Given the description of an element on the screen output the (x, y) to click on. 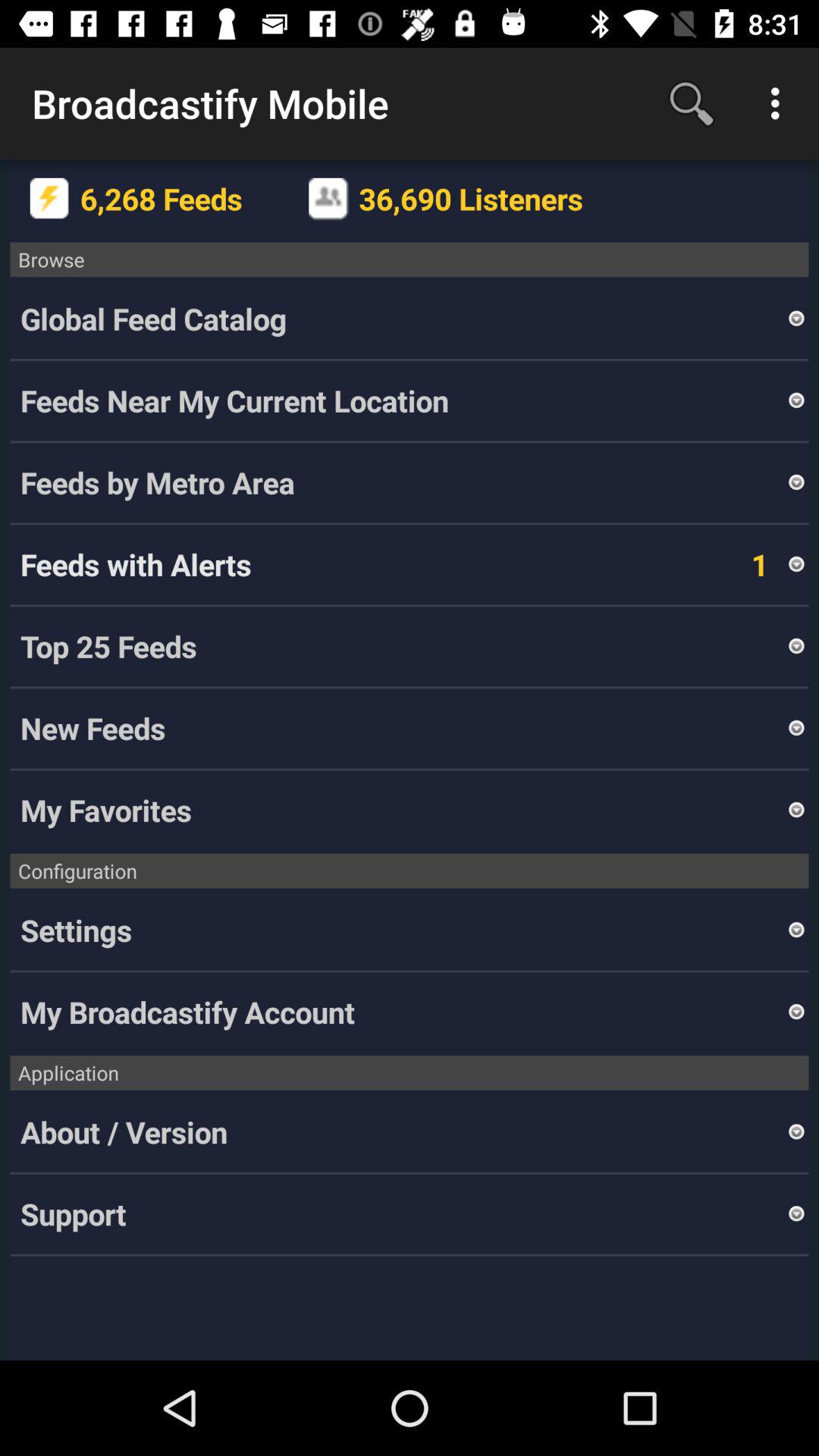
jump to the browse icon (409, 259)
